Given the description of an element on the screen output the (x, y) to click on. 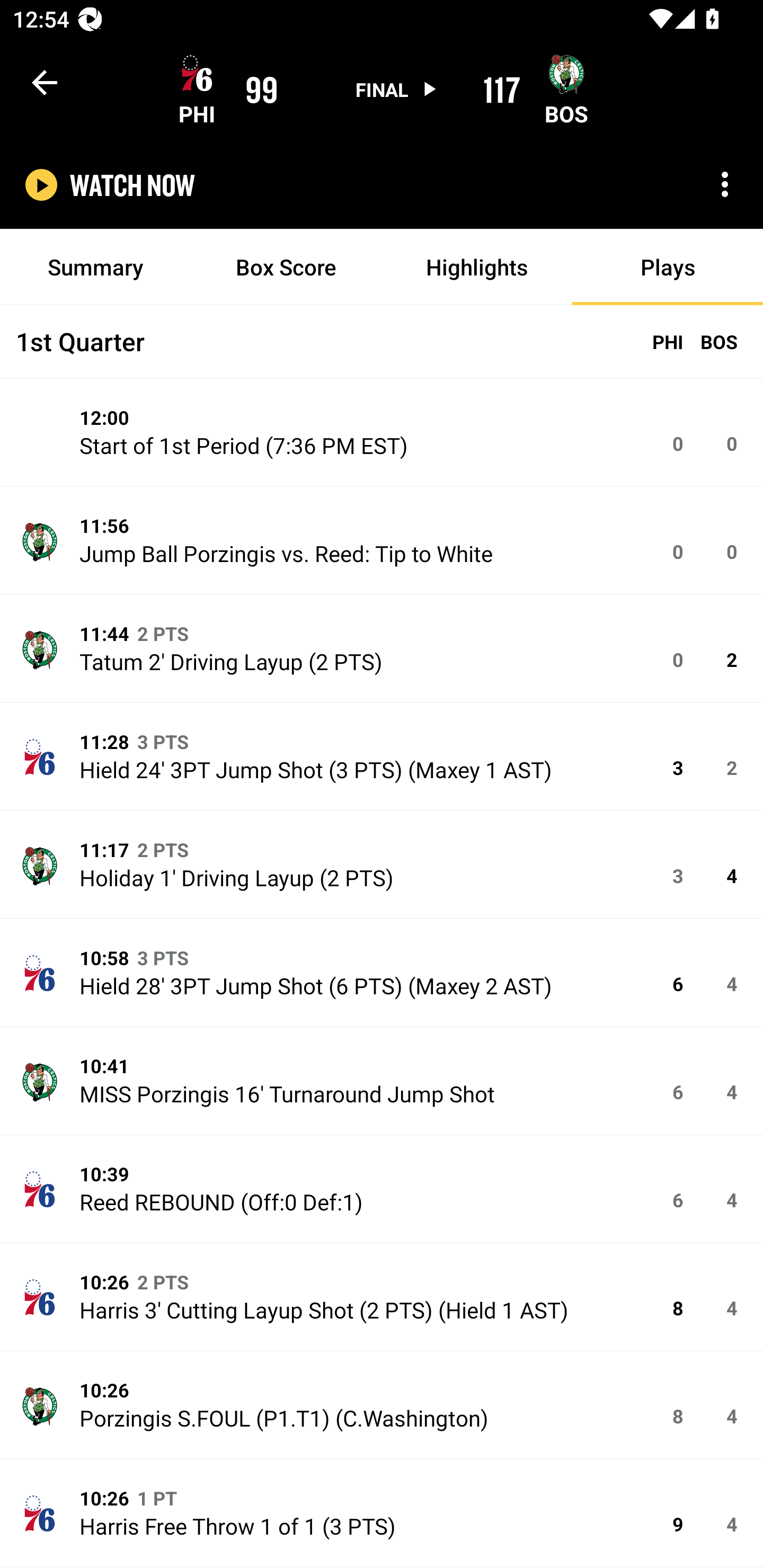
Navigate up (44, 82)
More options (724, 183)
WATCH NOW (132, 184)
Summary (95, 266)
Box Score (285, 266)
Highlights (476, 266)
